Given the description of an element on the screen output the (x, y) to click on. 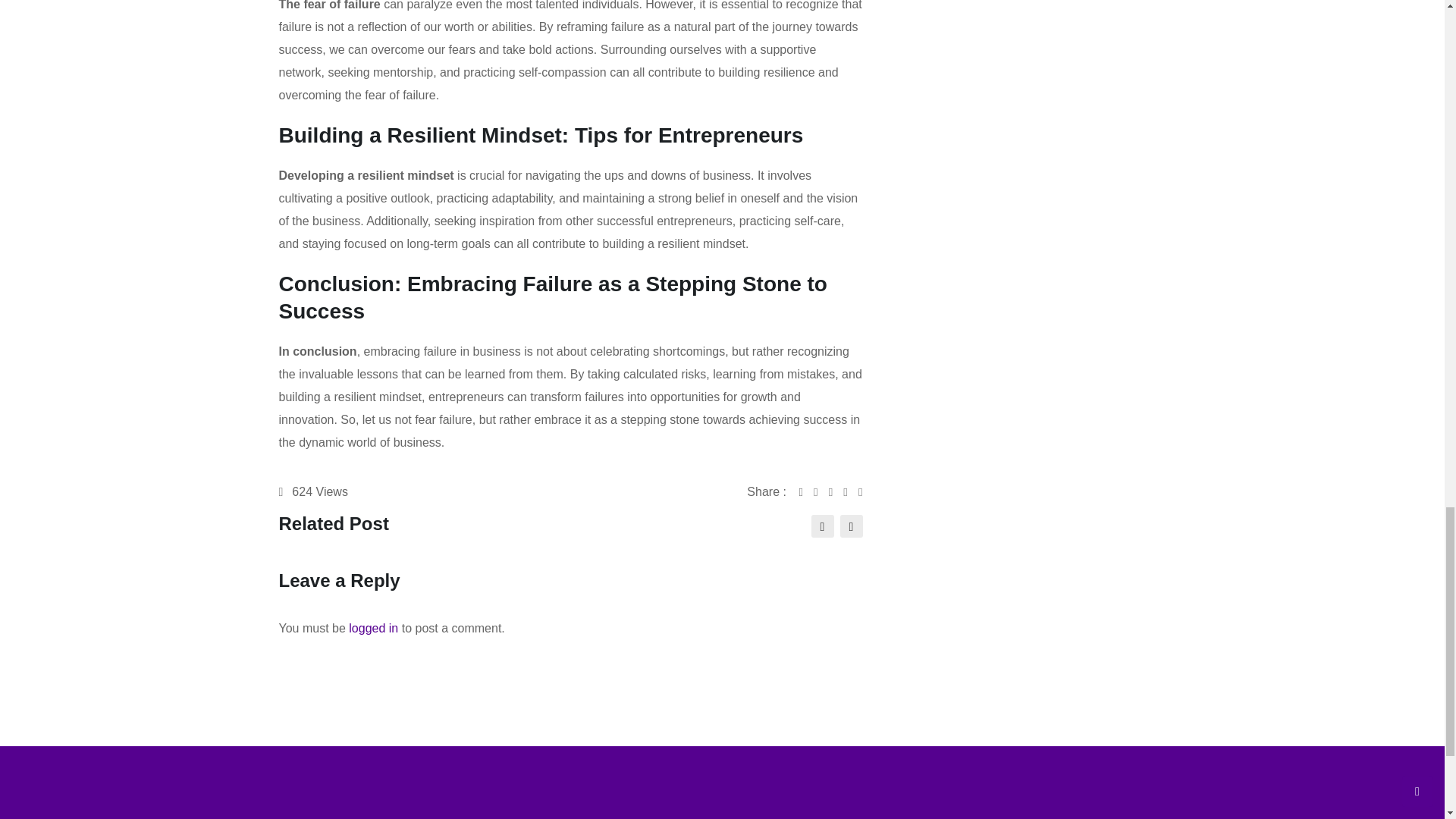
Share via Email (851, 491)
Whatsapp (836, 491)
logged in (373, 627)
